Given the description of an element on the screen output the (x, y) to click on. 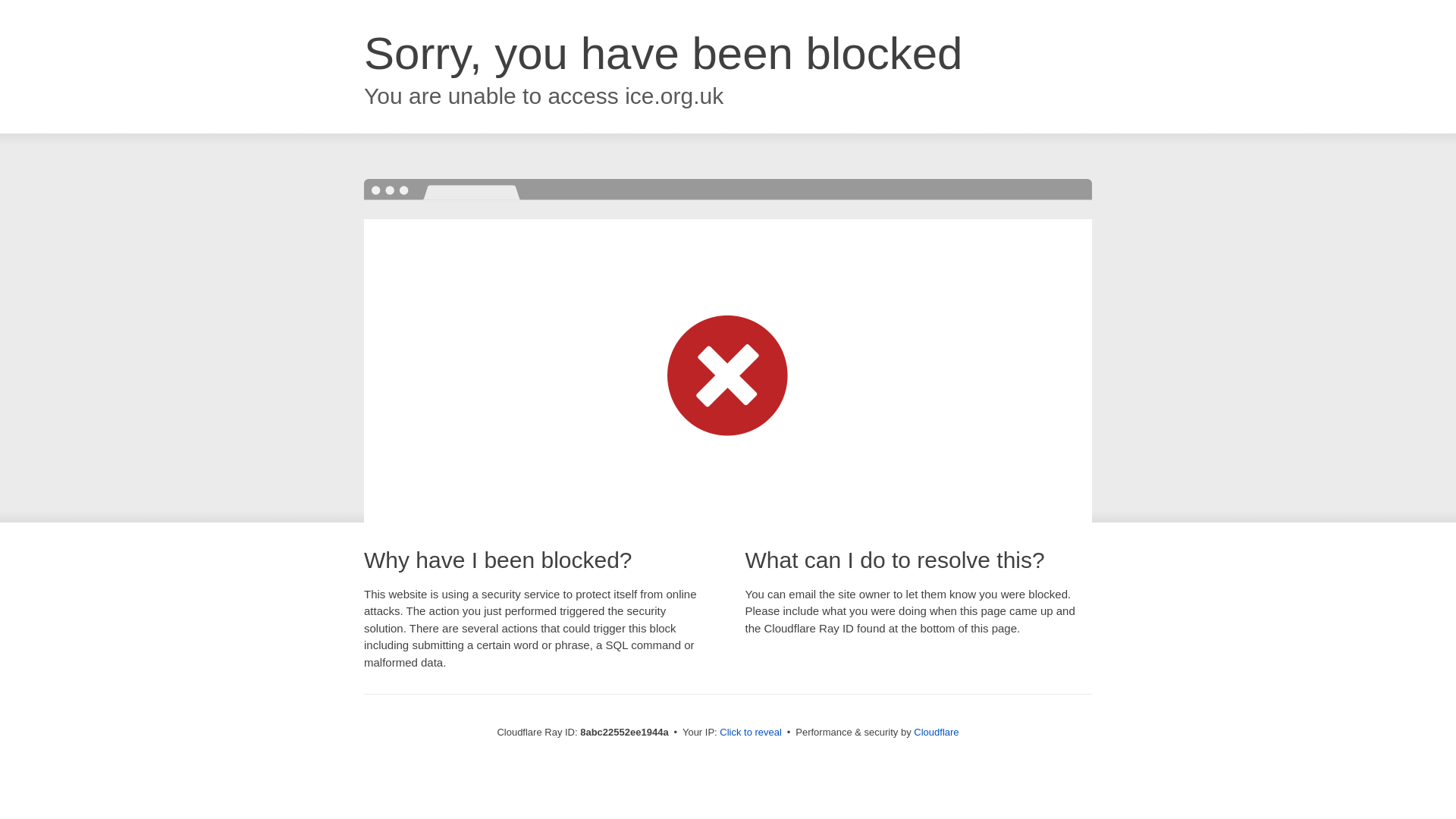
Click to reveal (749, 732)
Cloudflare (935, 731)
